Given the description of an element on the screen output the (x, y) to click on. 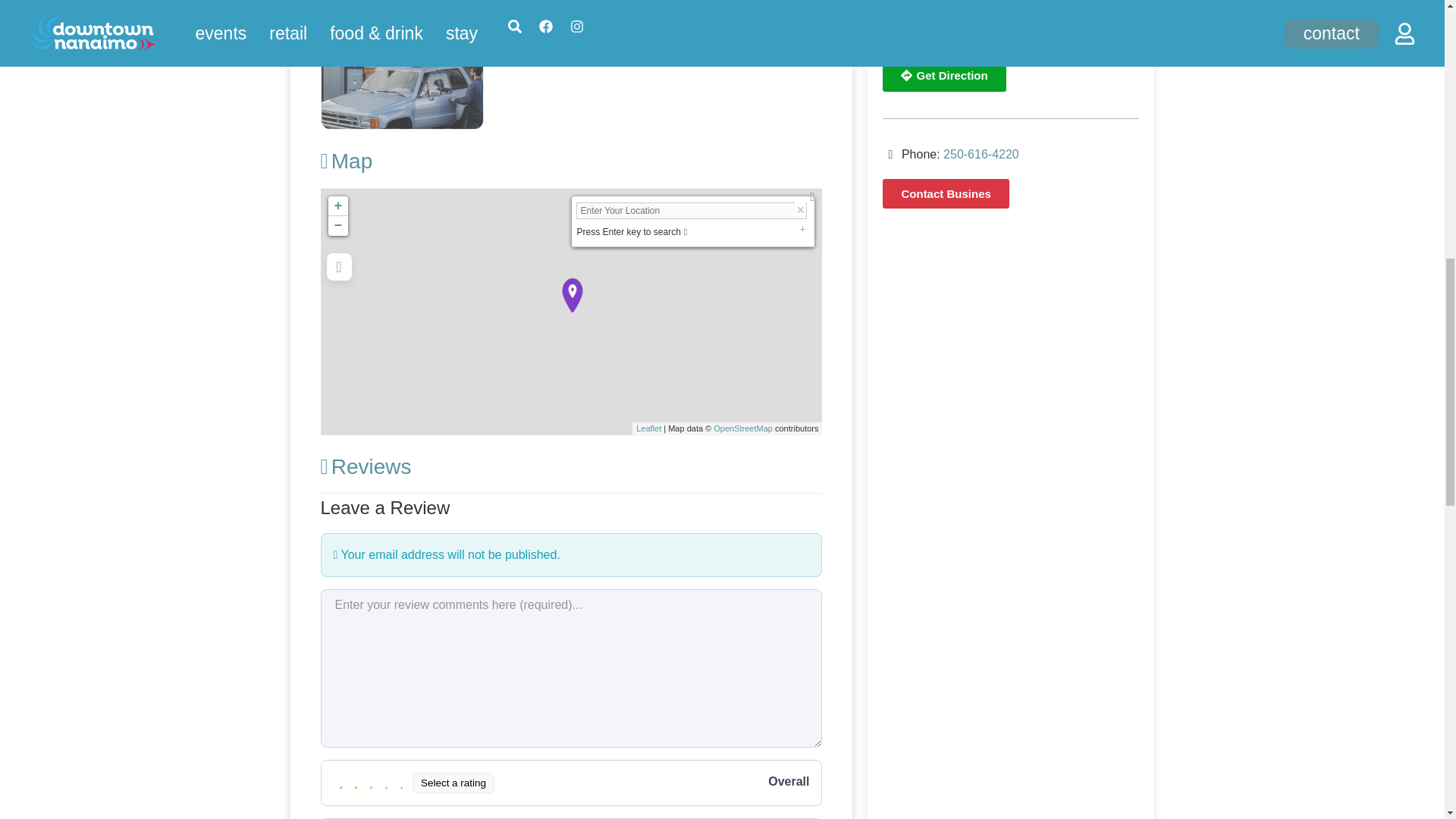
Poor (356, 782)
Precise Mechanical Repairs (571, 295)
Terrible (341, 782)
Very Good (386, 782)
Zoom out (337, 225)
A JS library for interactive maps (648, 428)
Zoom in (337, 206)
Average (371, 782)
